Given the description of an element on the screen output the (x, y) to click on. 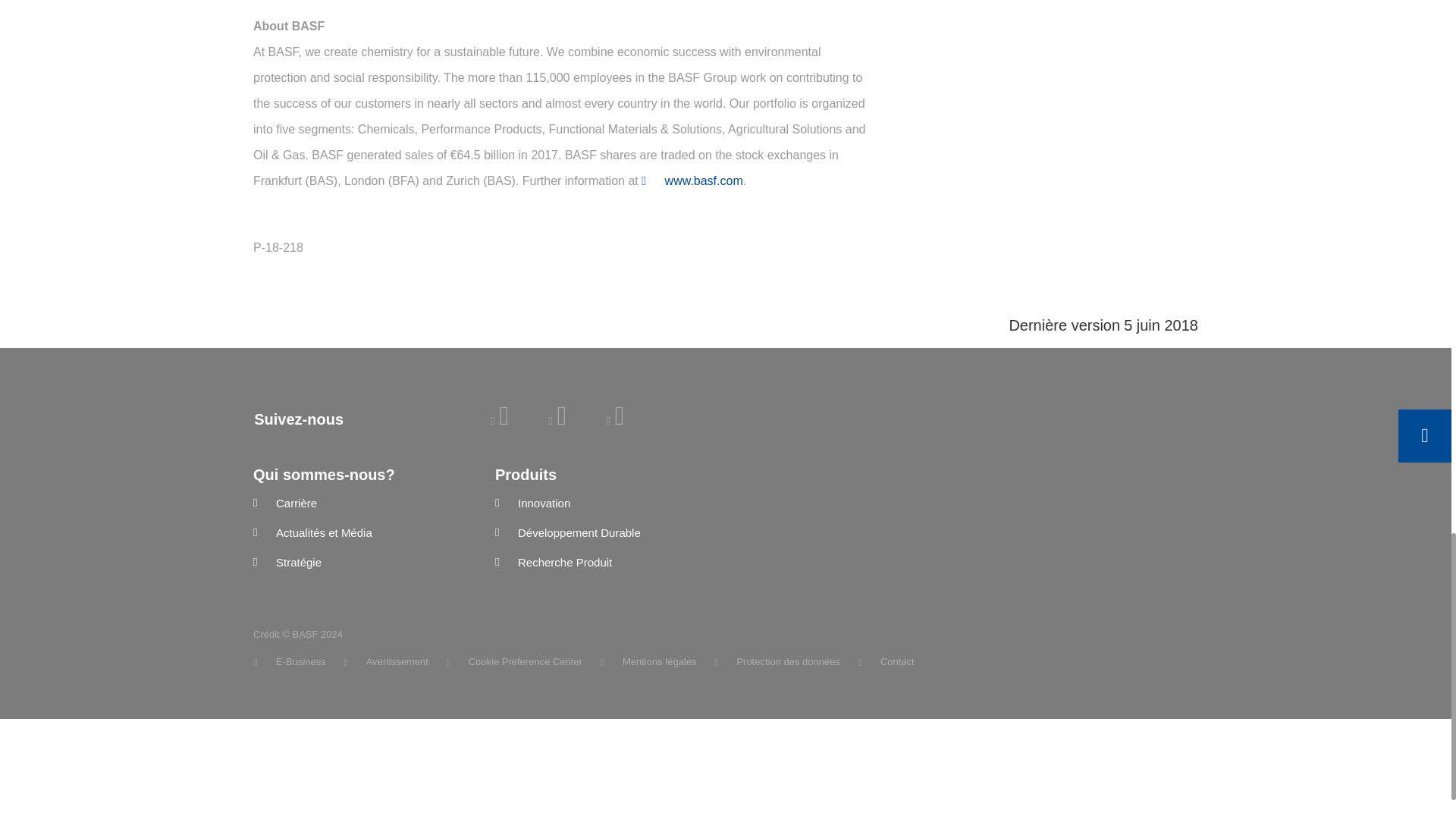
E-Business (289, 660)
Recherche Produit (604, 562)
Join us in Facebook (557, 420)
Join us in LinkedIn (499, 420)
www.basf.com (692, 180)
Cookie Preference Center (514, 660)
Innovation (604, 503)
Join us in Instagram Africa (614, 420)
Avertissement (385, 660)
